Given the description of an element on the screen output the (x, y) to click on. 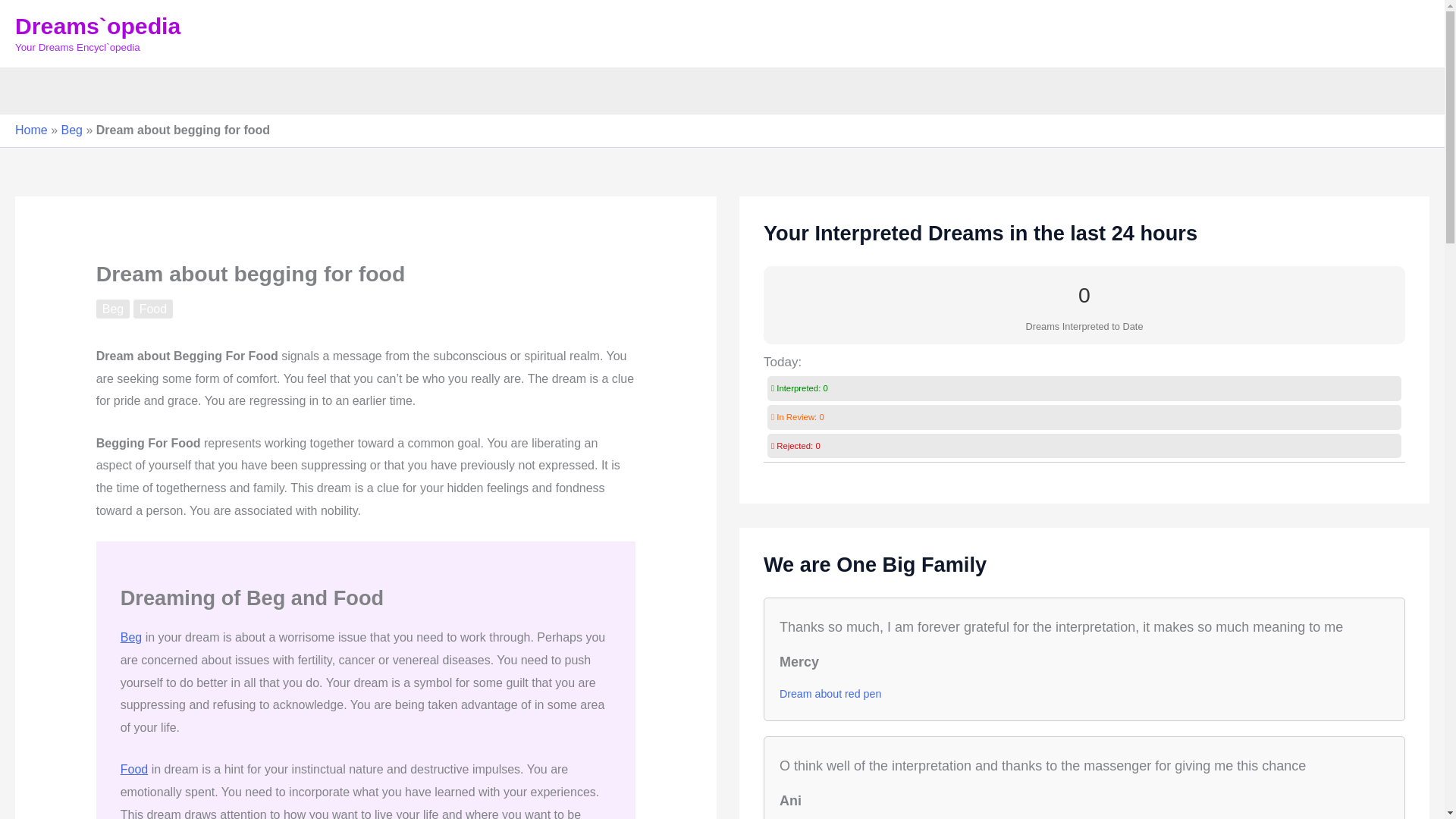
Food (134, 768)
Home (31, 129)
Beg (130, 636)
Dream about red pen (829, 693)
Beg (71, 129)
Food (153, 308)
Beg (112, 308)
